Given the description of an element on the screen output the (x, y) to click on. 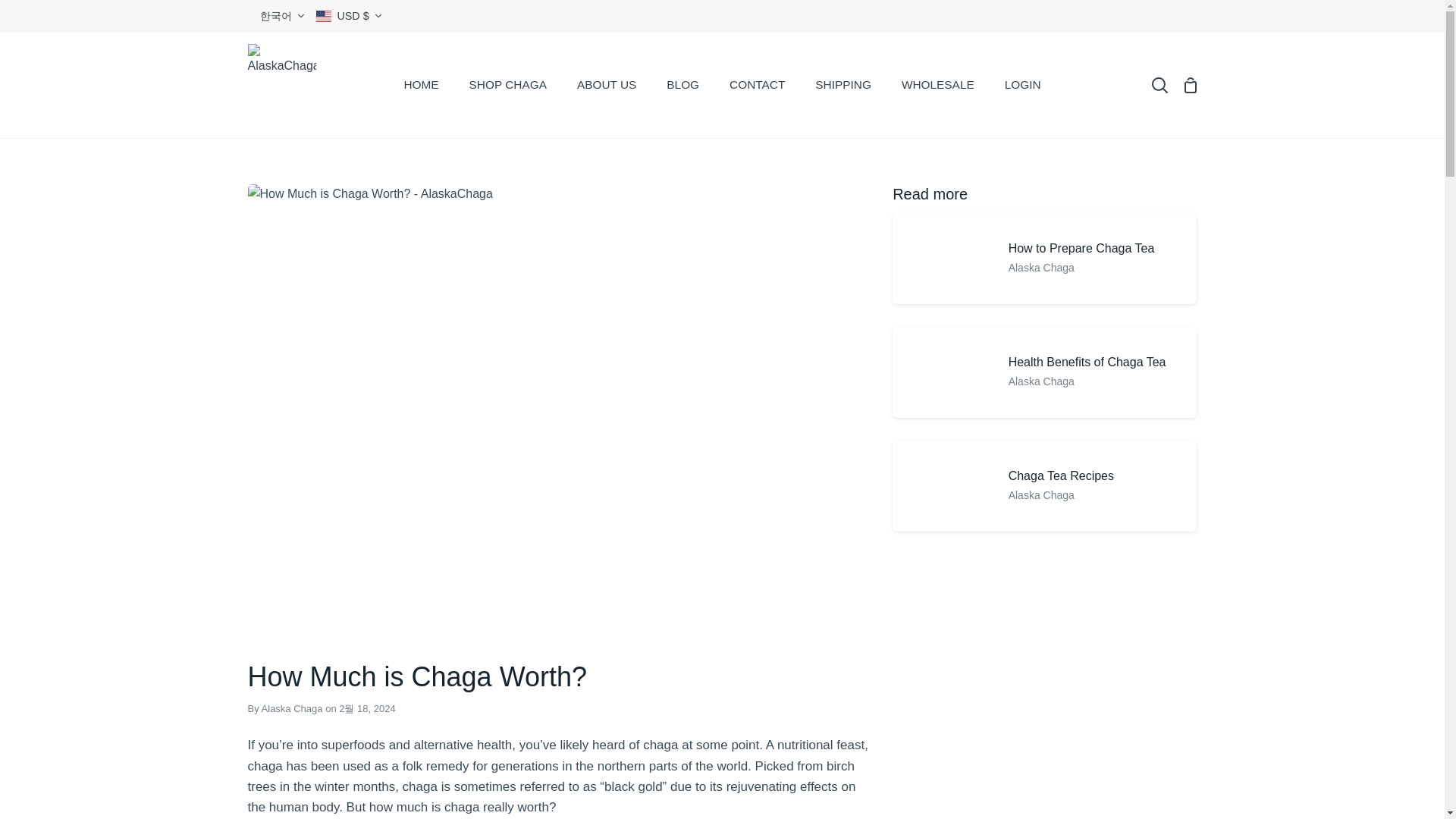
Search (1159, 85)
Shopping Cart (1189, 85)
